Given the description of an element on the screen output the (x, y) to click on. 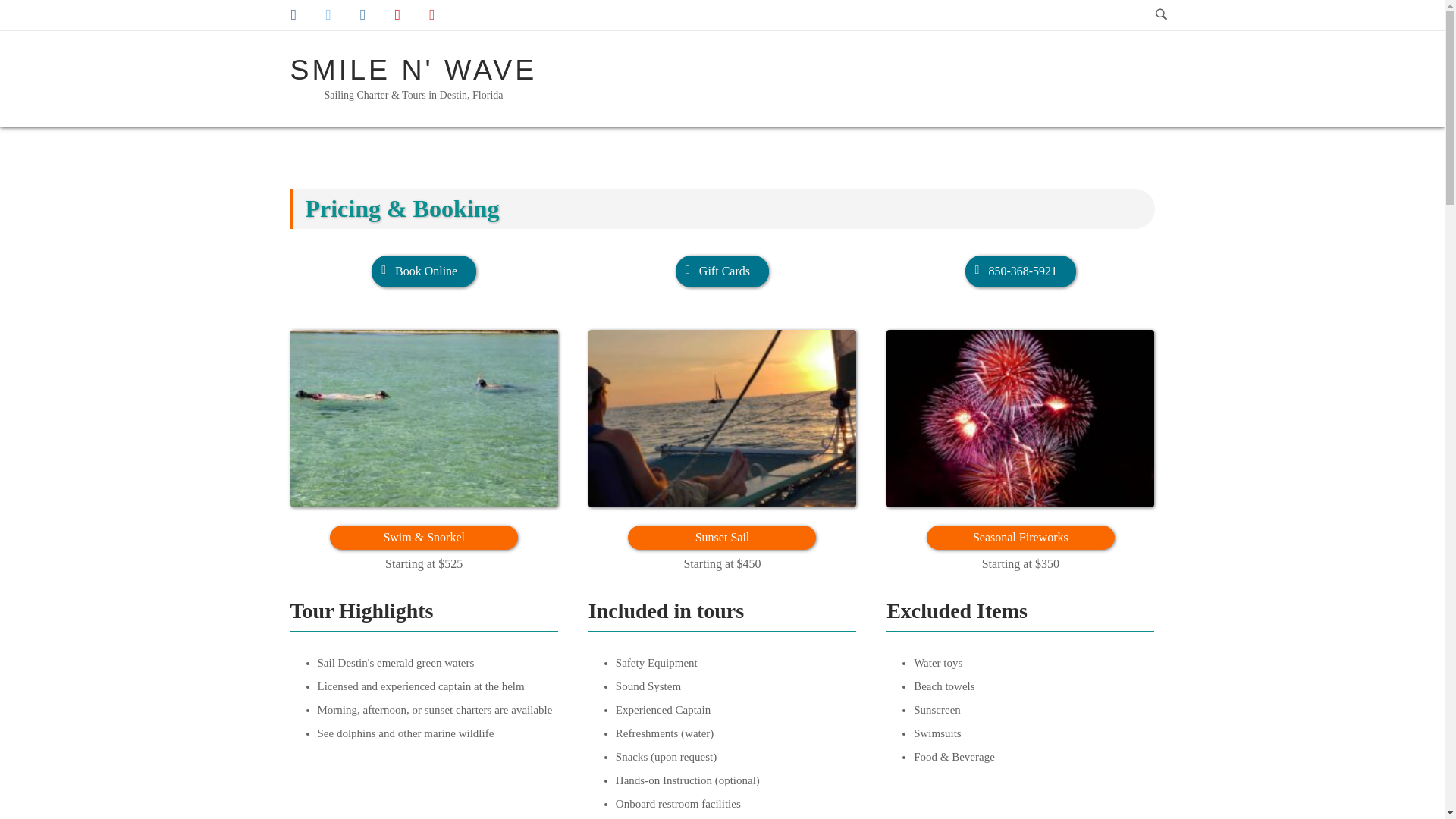
Gift Cards (721, 271)
Gift Cards (721, 271)
Smile N Wave Sailing Adventures on YouTube (431, 14)
Smile N Wave Sailing Adventures on Twitter (328, 14)
Smile N Wave Sailing Adventures on Facebook (293, 14)
Book Online (423, 271)
Seasonal Fireworks (1020, 418)
850-368-5921 (1021, 271)
Call 850-368-5921 (1021, 271)
Seasonal Fireworks (1020, 537)
Sunset Sail (721, 537)
Smile N Wave Sailing Adventures on Pinterest (396, 14)
SMILE N' WAVE (413, 69)
Sunset Sail (722, 418)
Smile N Wave Sailing Adventures on Instagram (362, 14)
